Given the description of an element on the screen output the (x, y) to click on. 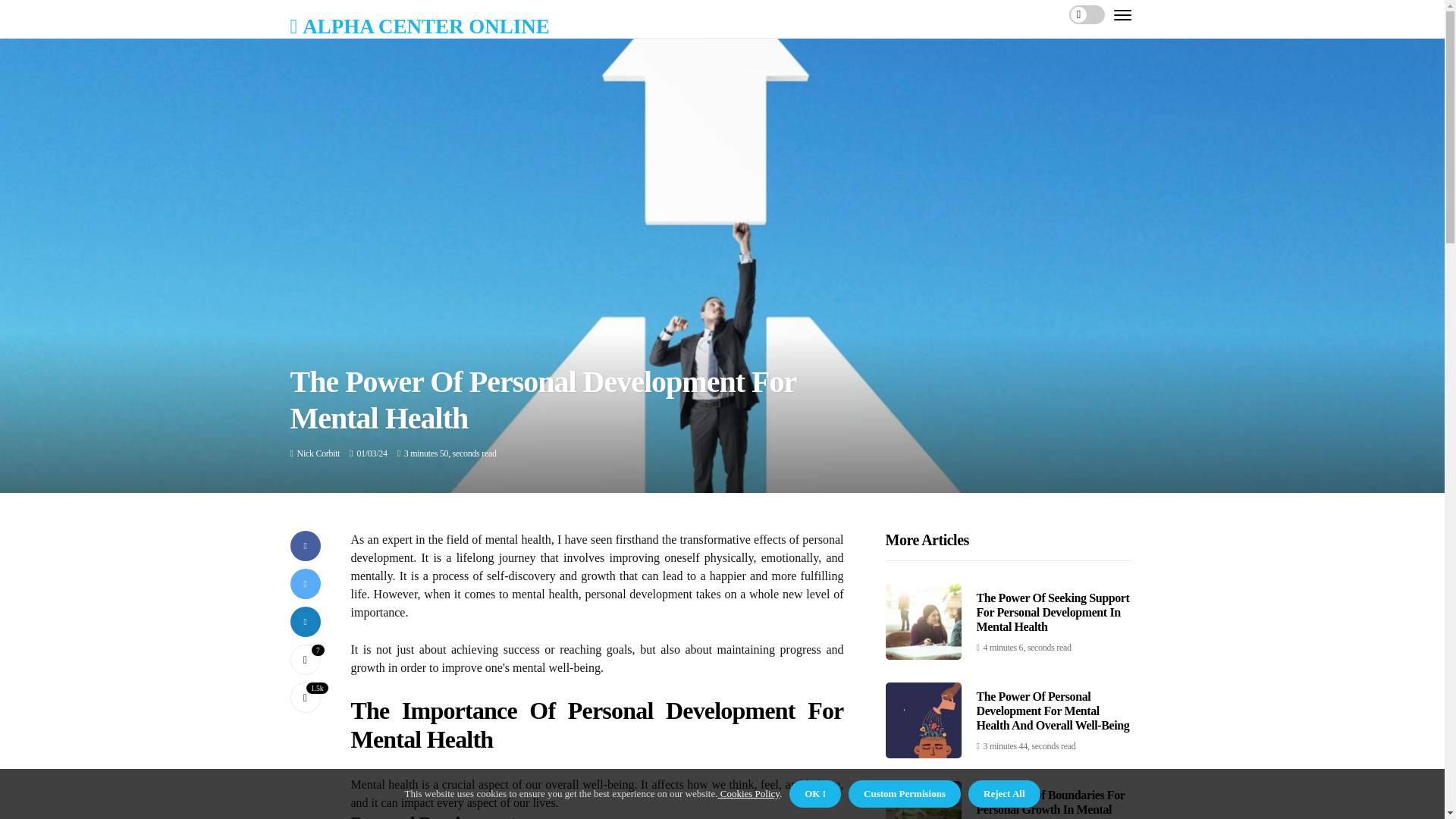
ALPHA CENTER ONLINE (418, 26)
Nick Corbitt (318, 452)
7 (304, 659)
Posts by Nick Corbitt (318, 452)
Like (304, 659)
The Power Of Boundaries For Personal Growth In Mental Health (1050, 803)
